Given the description of an element on the screen output the (x, y) to click on. 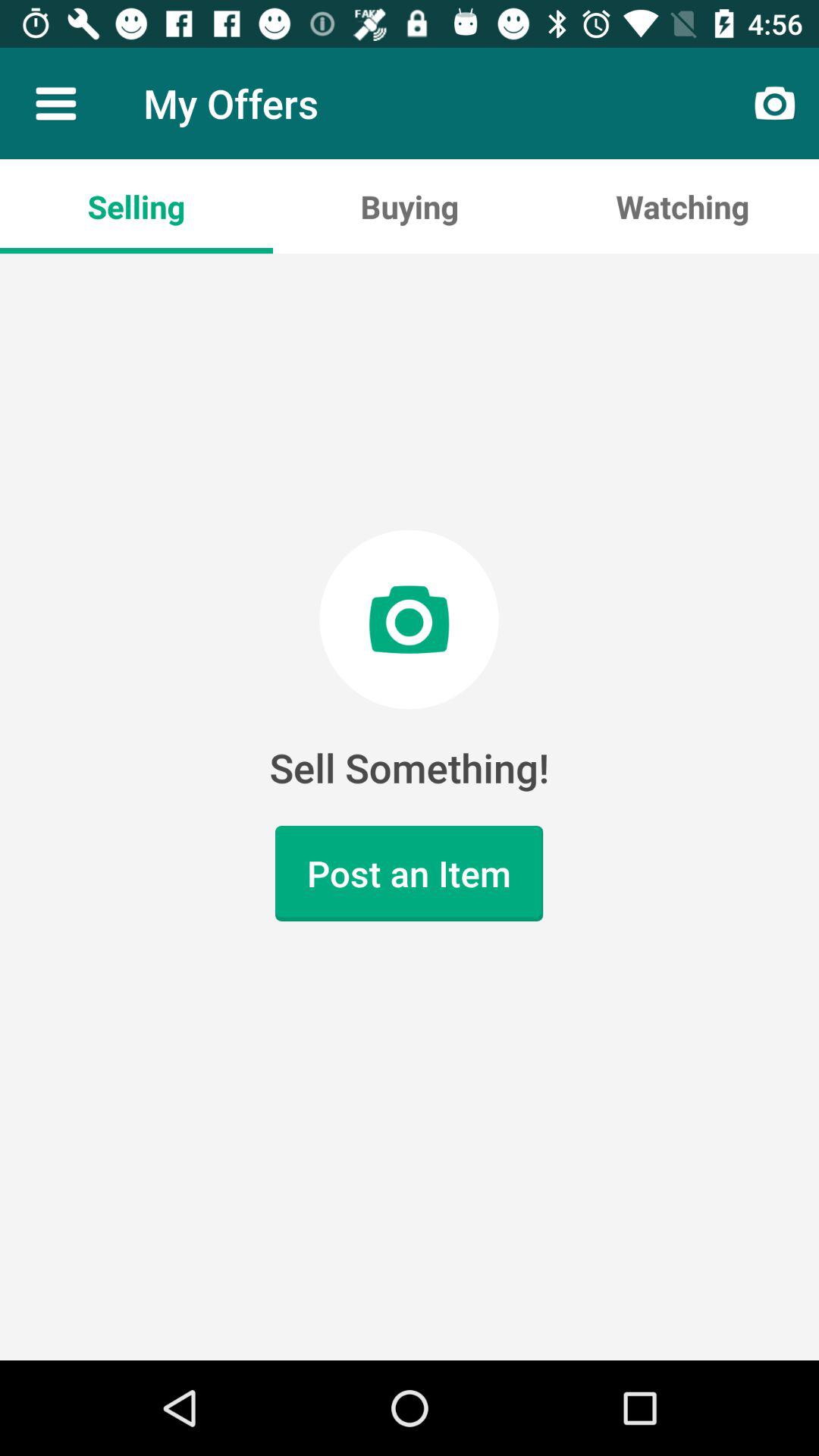
turn off selling item (136, 206)
